Given the description of an element on the screen output the (x, y) to click on. 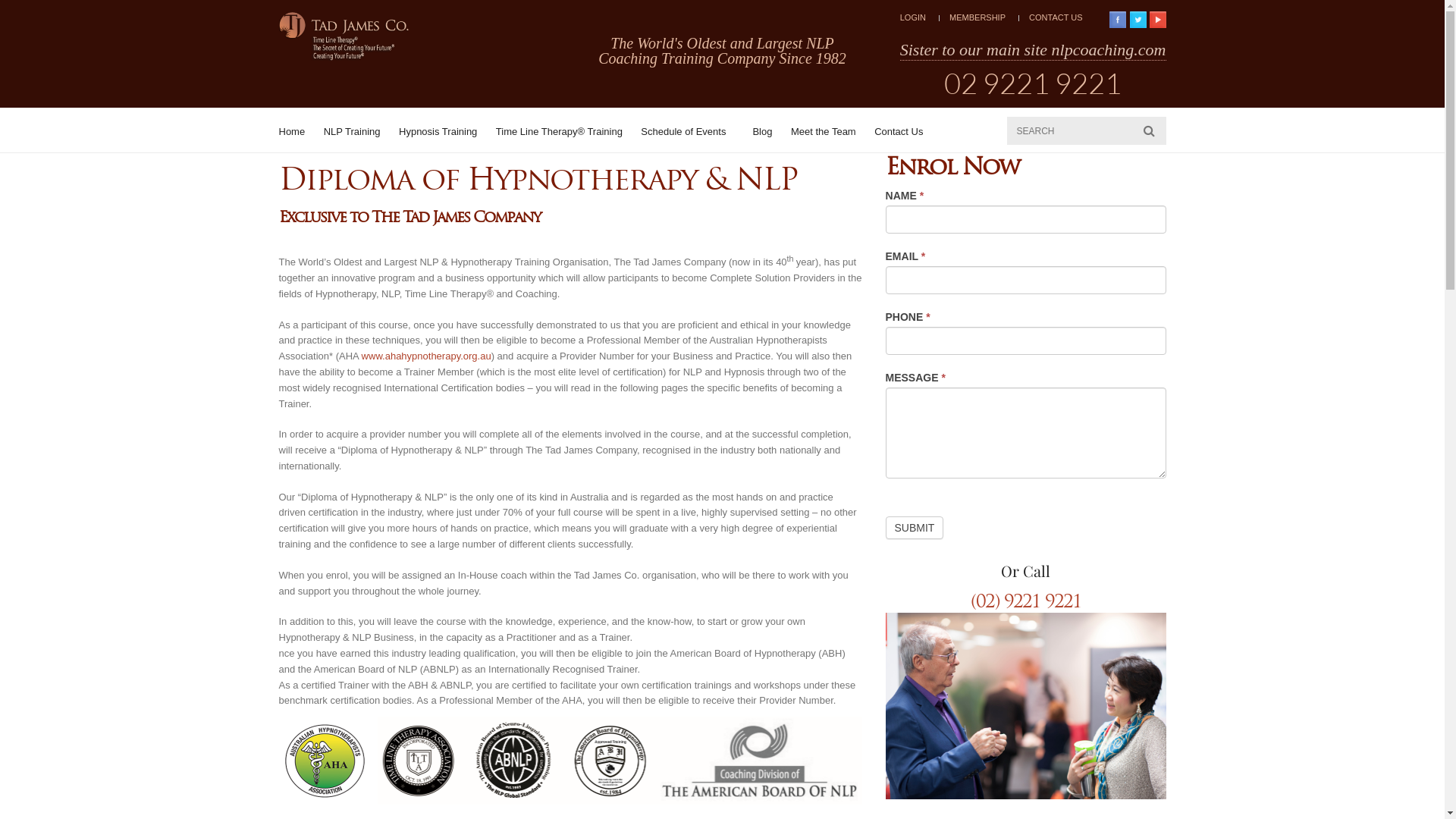
(02) 9221 9221 Element type: text (1025, 600)
Home Element type: text (292, 131)
Contact Us Element type: text (898, 131)
LOGIN Element type: text (912, 16)
Schedule of Events Element type: text (687, 131)
twitter Element type: hover (1137, 19)
Submit Element type: text (914, 527)
Hypnosis Training Element type: text (437, 131)
CONTACT US Element type: text (1055, 16)
NLP Training Element type: text (351, 131)
02 9221 9221 Element type: text (1032, 82)
facebook Element type: hover (1117, 19)
AHA-alllogos Element type: hover (570, 758)
nlpcoaching.com Element type: text (1108, 49)
youtube Element type: hover (1157, 19)
MEMBERSHIP Element type: text (977, 16)
DSC_8068 Element type: hover (1025, 705)
Blog Element type: text (761, 131)
Meet the Team Element type: text (823, 131)
www.ahahypnotherapy.org.au Element type: text (426, 355)
